Given the description of an element on the screen output the (x, y) to click on. 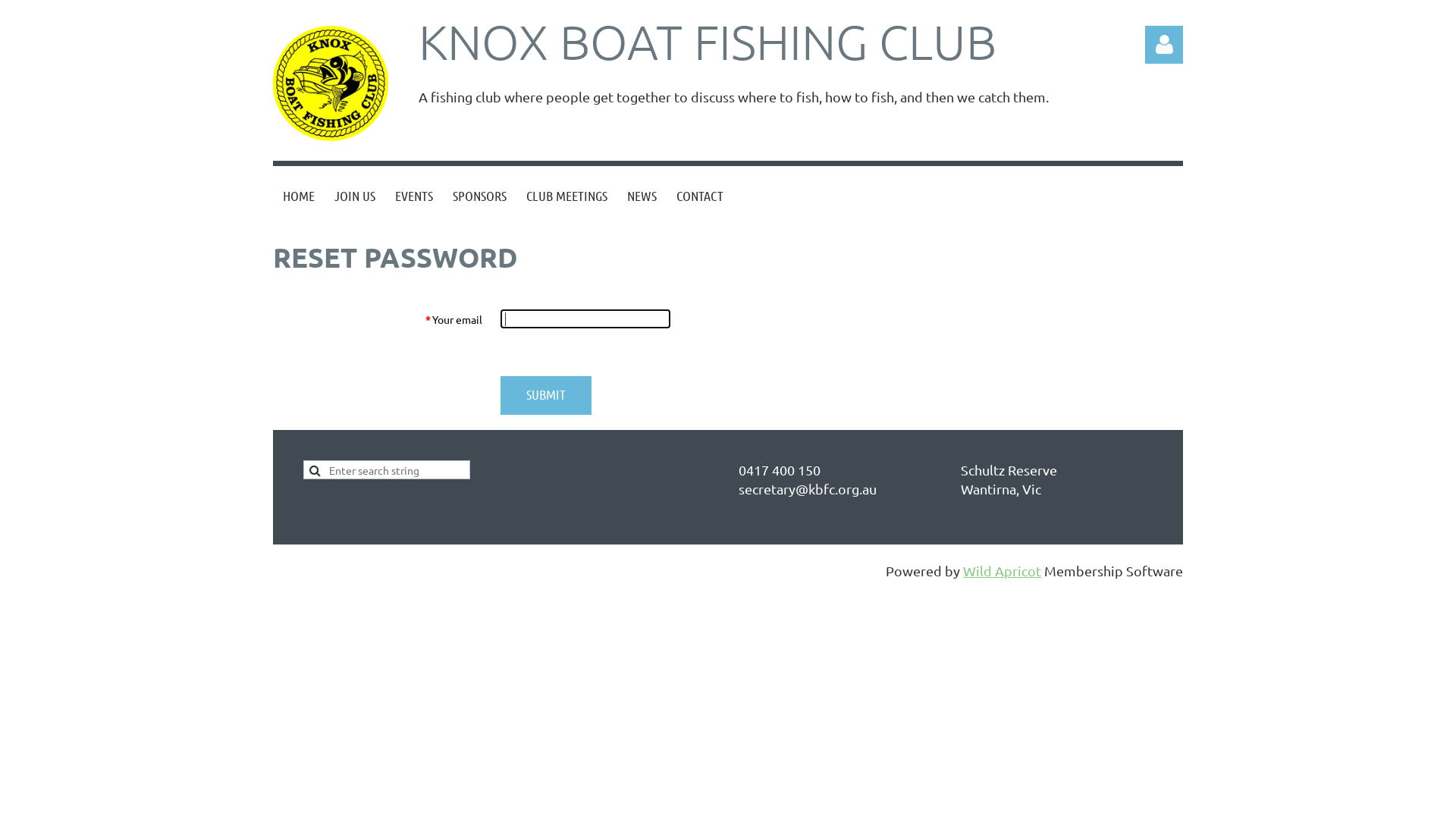
SPONSORS Element type: text (479, 195)
Submit Element type: text (545, 395)
CLUB MEETINGS Element type: text (566, 195)
HOME Element type: text (298, 195)
EVENTS Element type: text (413, 195)
NEWS Element type: text (641, 195)
JOIN US Element type: text (354, 195)
Log in Element type: text (1164, 44)
CONTACT Element type: text (699, 195)
Wild Apricot Element type: text (1002, 570)
